Given the description of an element on the screen output the (x, y) to click on. 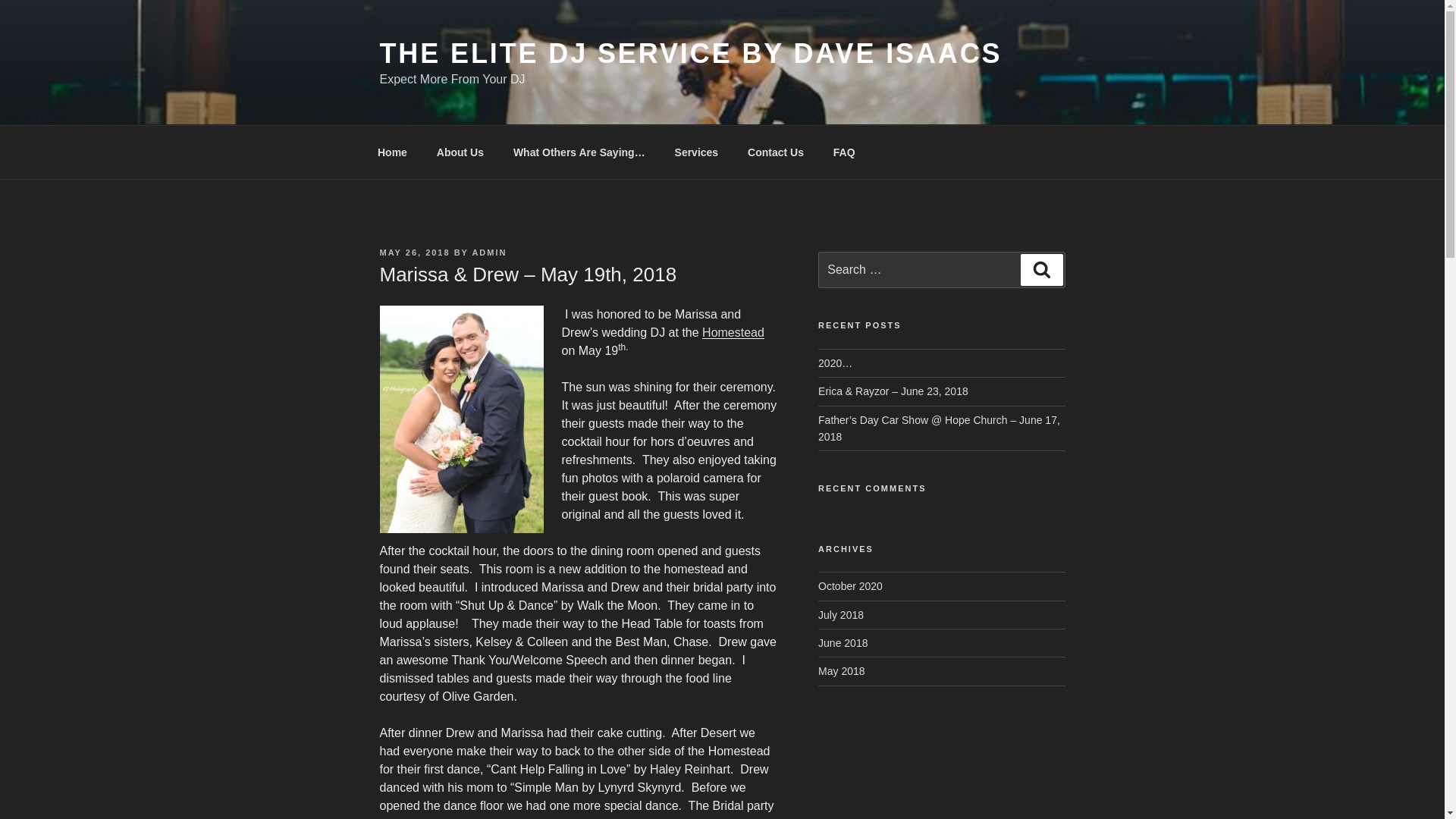
MAY 26, 2018 (413, 252)
Services (696, 151)
About Us (459, 151)
May 2018 (841, 671)
October 2020 (850, 585)
FAQ (843, 151)
Contact Us (775, 151)
June 2018 (842, 643)
Homestead (732, 332)
Search (1041, 269)
July 2018 (840, 613)
ADMIN (488, 252)
THE ELITE DJ SERVICE BY DAVE ISAACS (689, 52)
Home (392, 151)
